Given the description of an element on the screen output the (x, y) to click on. 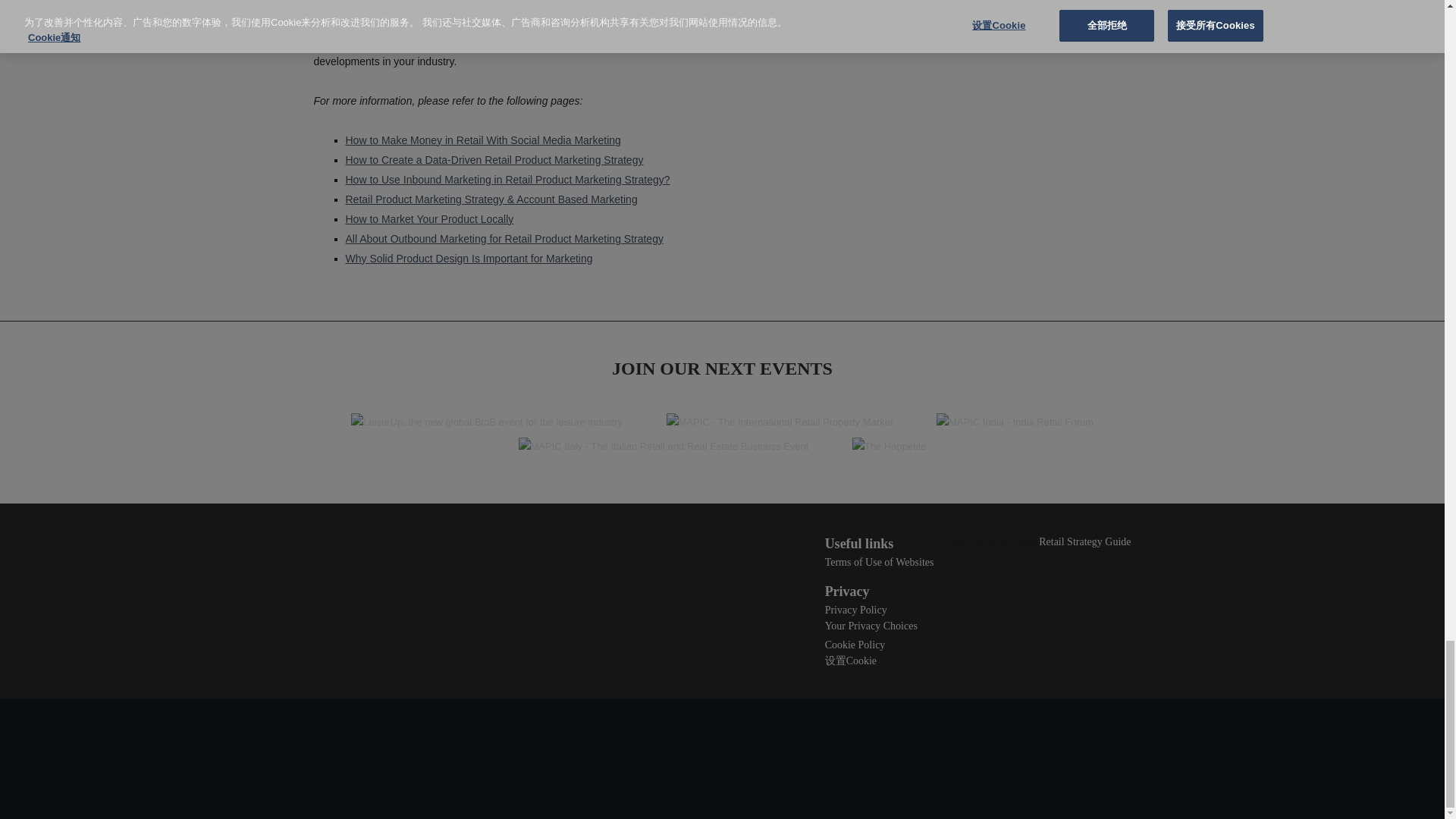
How to Make Money in Retail With Social Media Marketing (483, 140)
Terms of Use of Websites (879, 562)
Why Solid Product Design Is Important for Marketing (469, 258)
MAPIC India - India Retail Forum (1014, 422)
How to Market Your Product Locally (429, 218)
MAPIC - The International Retail Property Market (779, 422)
LeisurUp, the new global BtoB event for the leisure industry (486, 422)
